Given the description of an element on the screen output the (x, y) to click on. 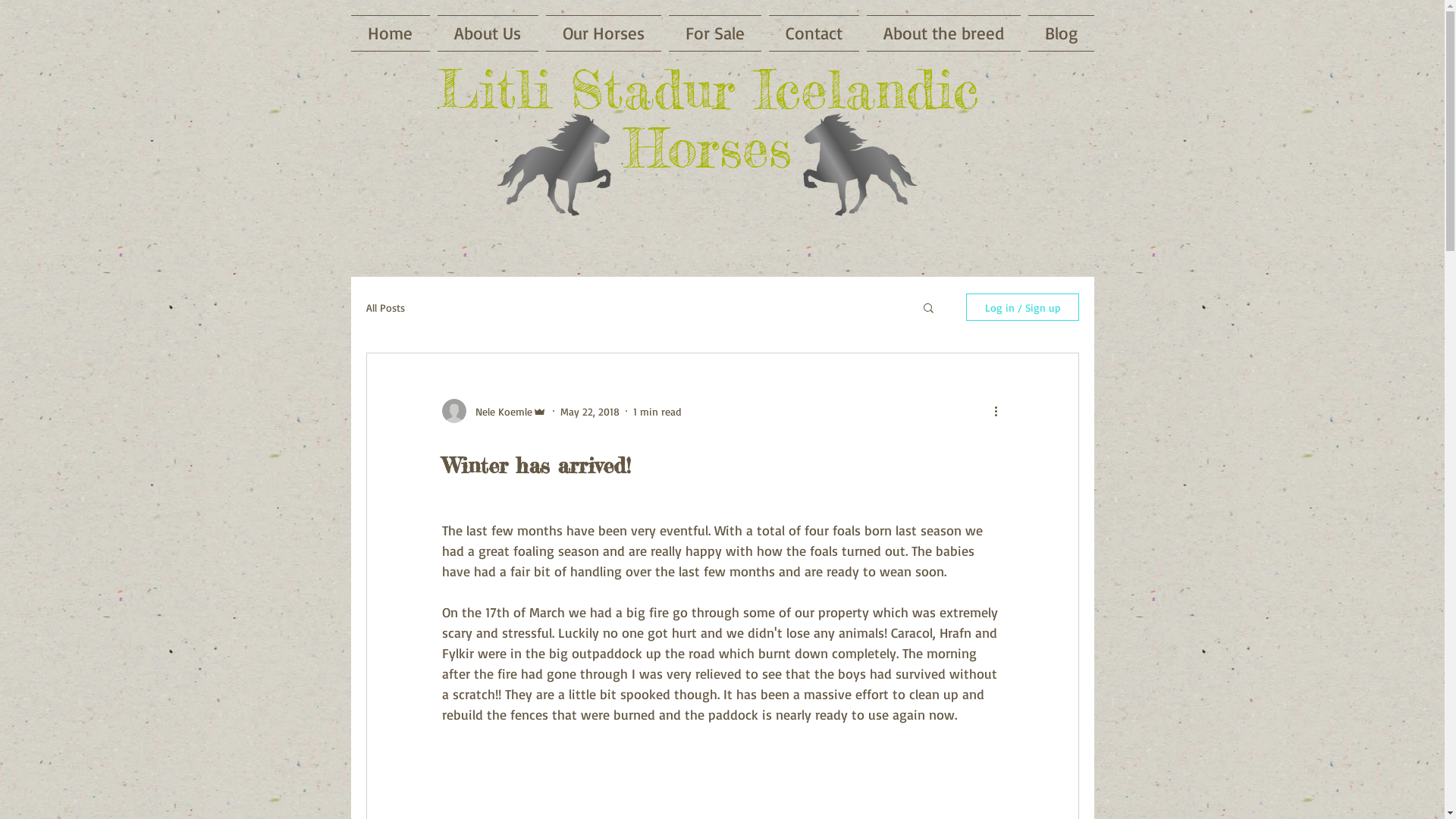
imageedit_26_6844333451.png Element type: hover (552, 163)
Contact Element type: text (813, 33)
Home Element type: text (391, 33)
About Us Element type: text (487, 33)
imageedit_9_3698761306.png Element type: hover (859, 163)
Our Horses Element type: text (602, 33)
All Posts Element type: text (384, 306)
For Sale Element type: text (714, 33)
Blog Element type: text (1058, 33)
Log in / Sign up Element type: text (1022, 306)
About the breed Element type: text (943, 33)
